Given the description of an element on the screen output the (x, y) to click on. 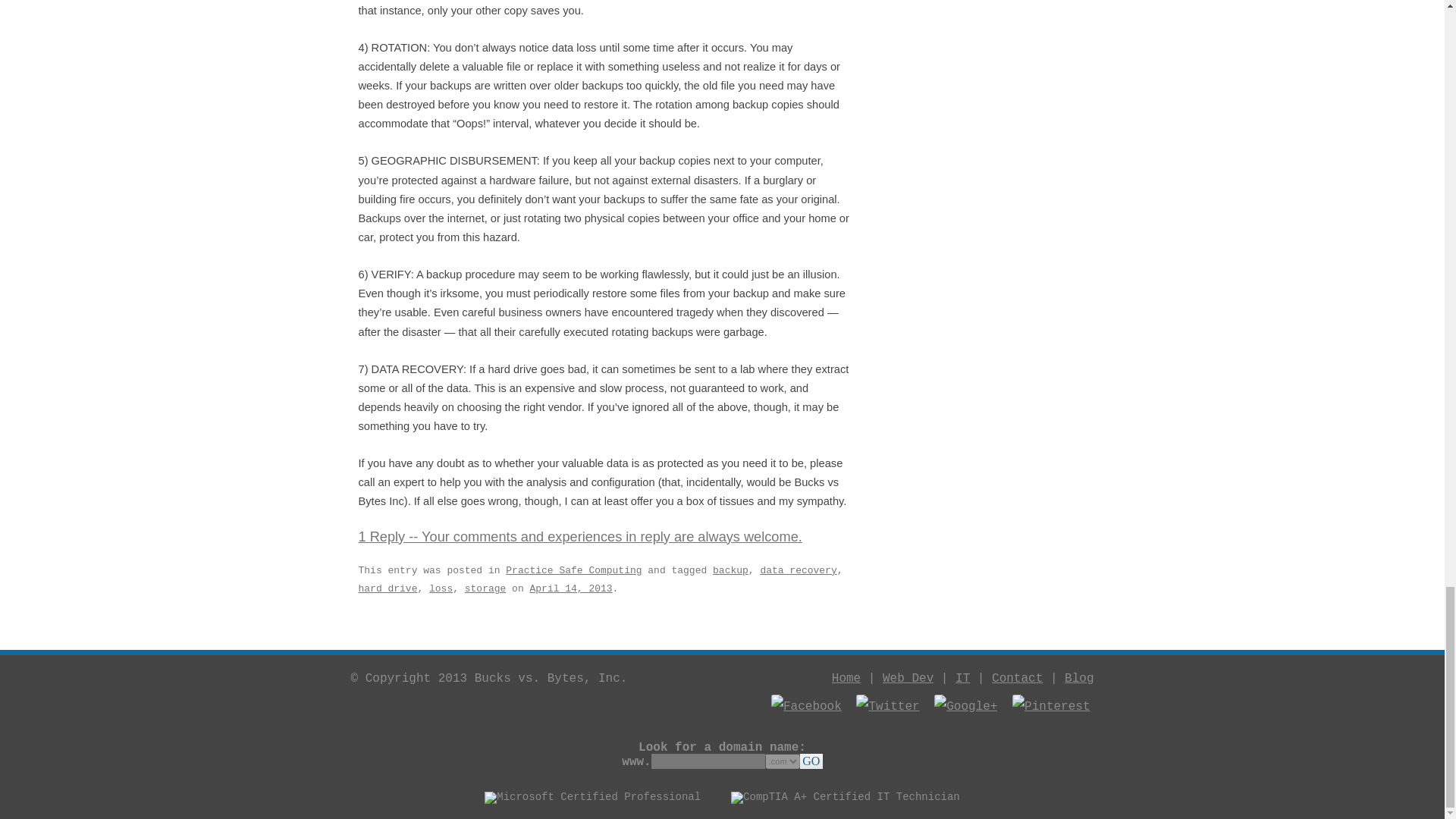
loss (440, 588)
10:46 am (570, 588)
data recovery (797, 570)
GO (810, 761)
storage (485, 588)
backup (730, 570)
hard drive (387, 588)
April 14, 2013 (570, 588)
Practice Safe Computing (573, 570)
